Given the description of an element on the screen output the (x, y) to click on. 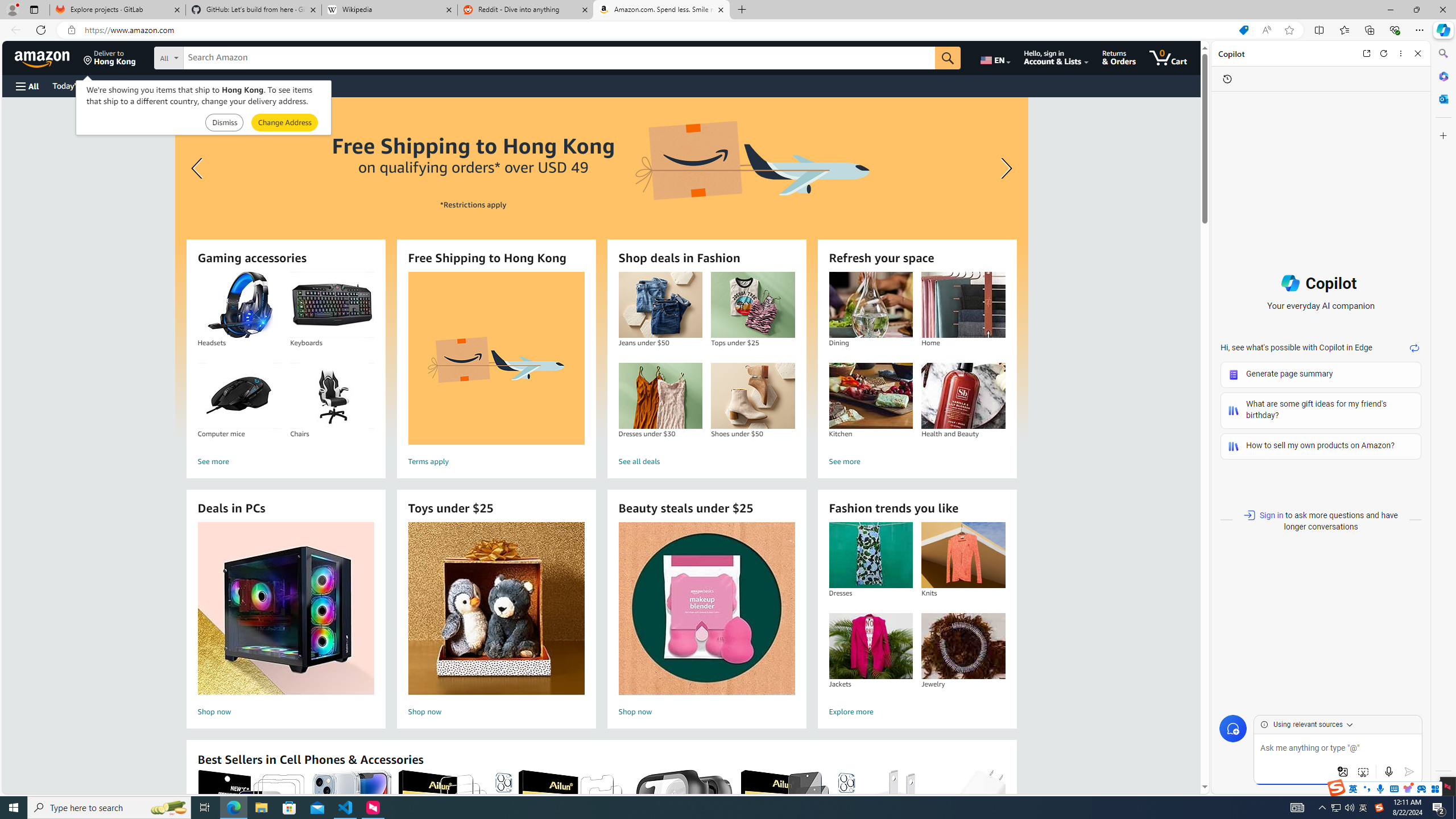
Dining (870, 304)
Wikipedia (390, 9)
Hello, sign in Account & Lists (1056, 57)
Jackets (870, 645)
Free Shipping to Hong Kong Learn more (600, 267)
Keyboards (331, 304)
Toys under $25 Shop now (495, 620)
